Given the description of an element on the screen output the (x, y) to click on. 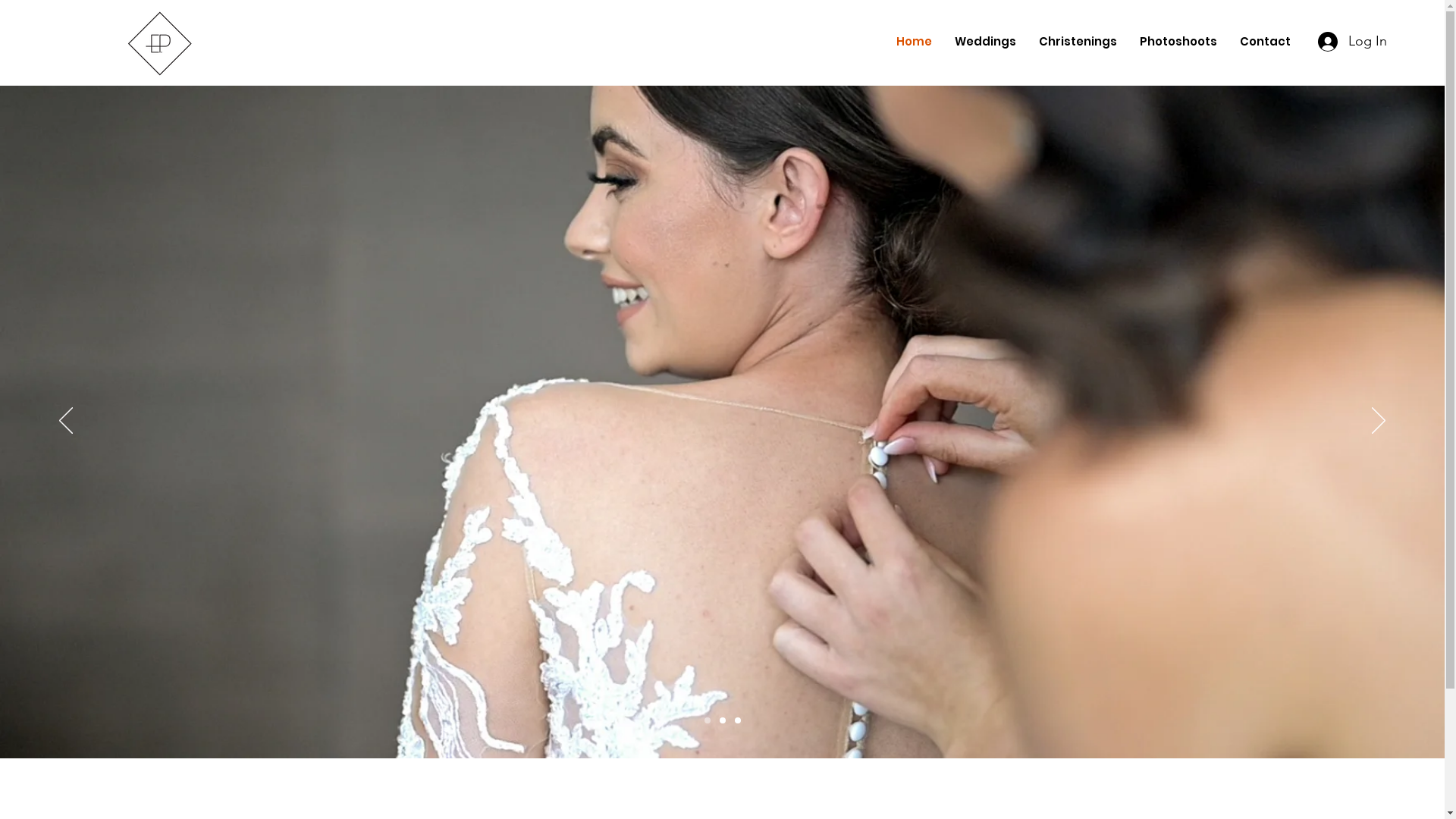
Photoshoots Element type: text (1178, 41)
Weddings Element type: text (985, 41)
Home Element type: text (913, 41)
Contact Element type: text (1265, 41)
Log In Element type: text (1351, 41)
Christenings Element type: text (1077, 41)
